Given the description of an element on the screen output the (x, y) to click on. 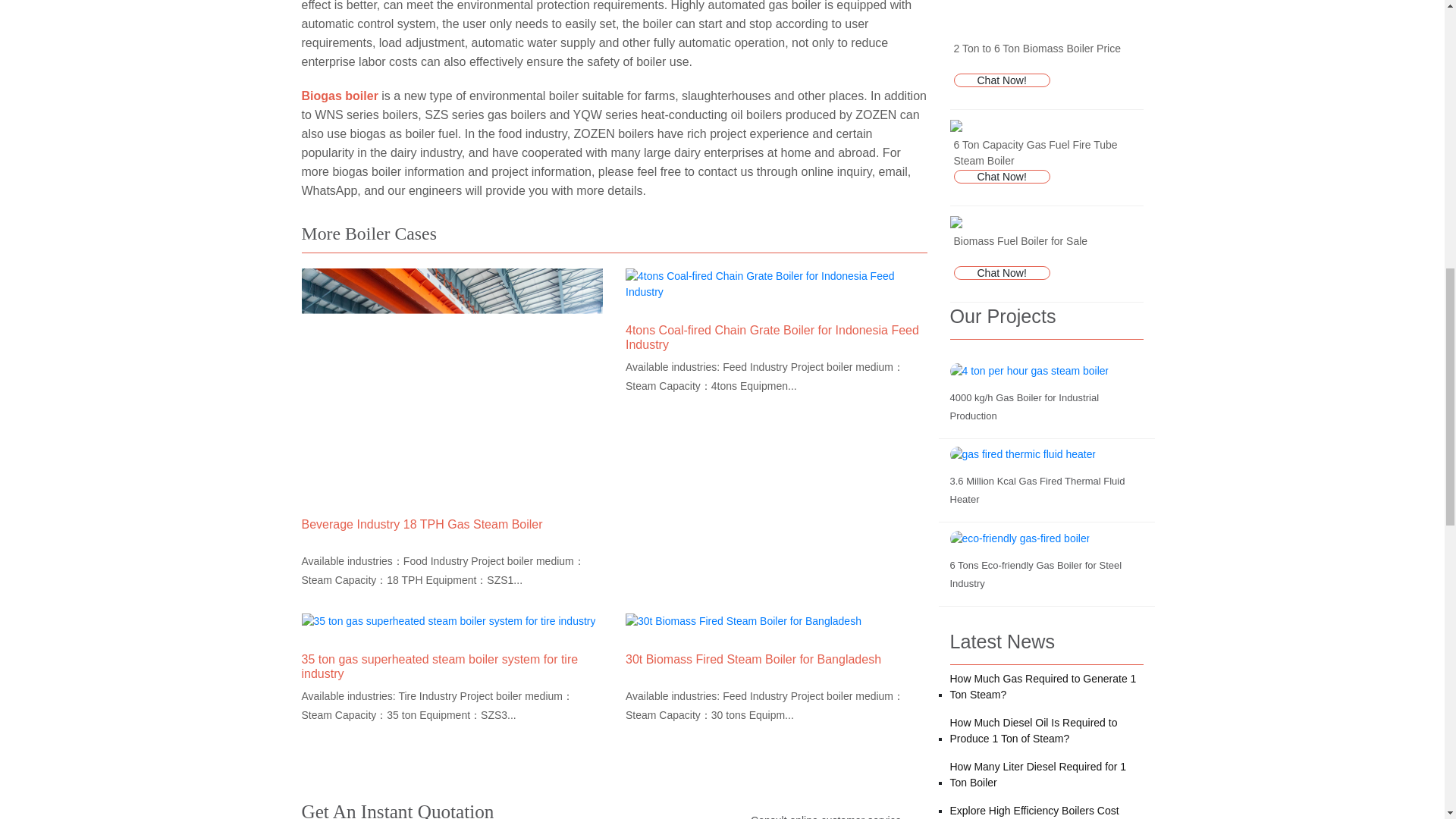
3.6 Million Kcal Gas Fired Thermal Fluid Heater (1036, 490)
6 Tons Eco-friendly Gas Boiler for Steel Industry (1035, 573)
30t Biomass Fired Steam Boiler for Bangladesh (753, 658)
Biogas boiler (339, 95)
Explore High Efficiency Boilers Cost (1033, 811)
Beverage Industry 18 TPH Gas Steam Boiler (422, 523)
Consult online customer service (822, 809)
35 ton gas superheated steam boiler system for tire industry (439, 666)
Beverage Industry 18 TPH Gas Steam Boiler (422, 523)
30t Biomass Fired Steam Boiler for Bangladesh (753, 658)
35 ton gas superheated steam boiler system for tire industry (439, 666)
